Given the description of an element on the screen output the (x, y) to click on. 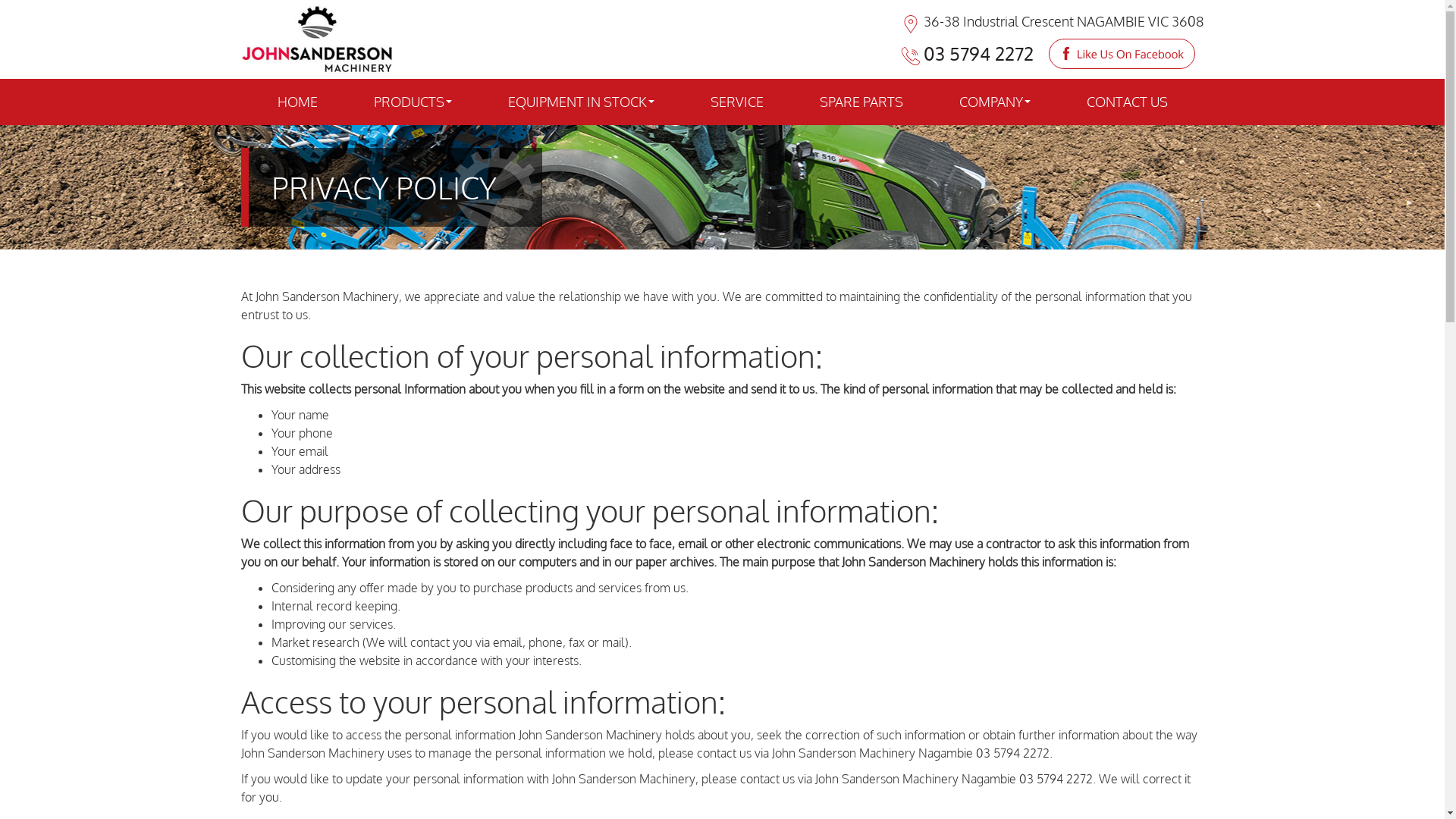
EQUIPMENT IN STOCK Element type: text (580, 101)
SPARE PARTS Element type: text (860, 101)
CONTACT US Element type: text (1126, 101)
PRODUCTS Element type: text (411, 101)
SERVICE Element type: text (736, 101)
03 5794 2272 Element type: text (966, 53)
36-38 Industrial Crescent NAGAMBIE VIC 3608 Element type: text (1051, 21)
COMPANY Element type: text (994, 101)
HOME Element type: text (297, 101)
